Given the description of an element on the screen output the (x, y) to click on. 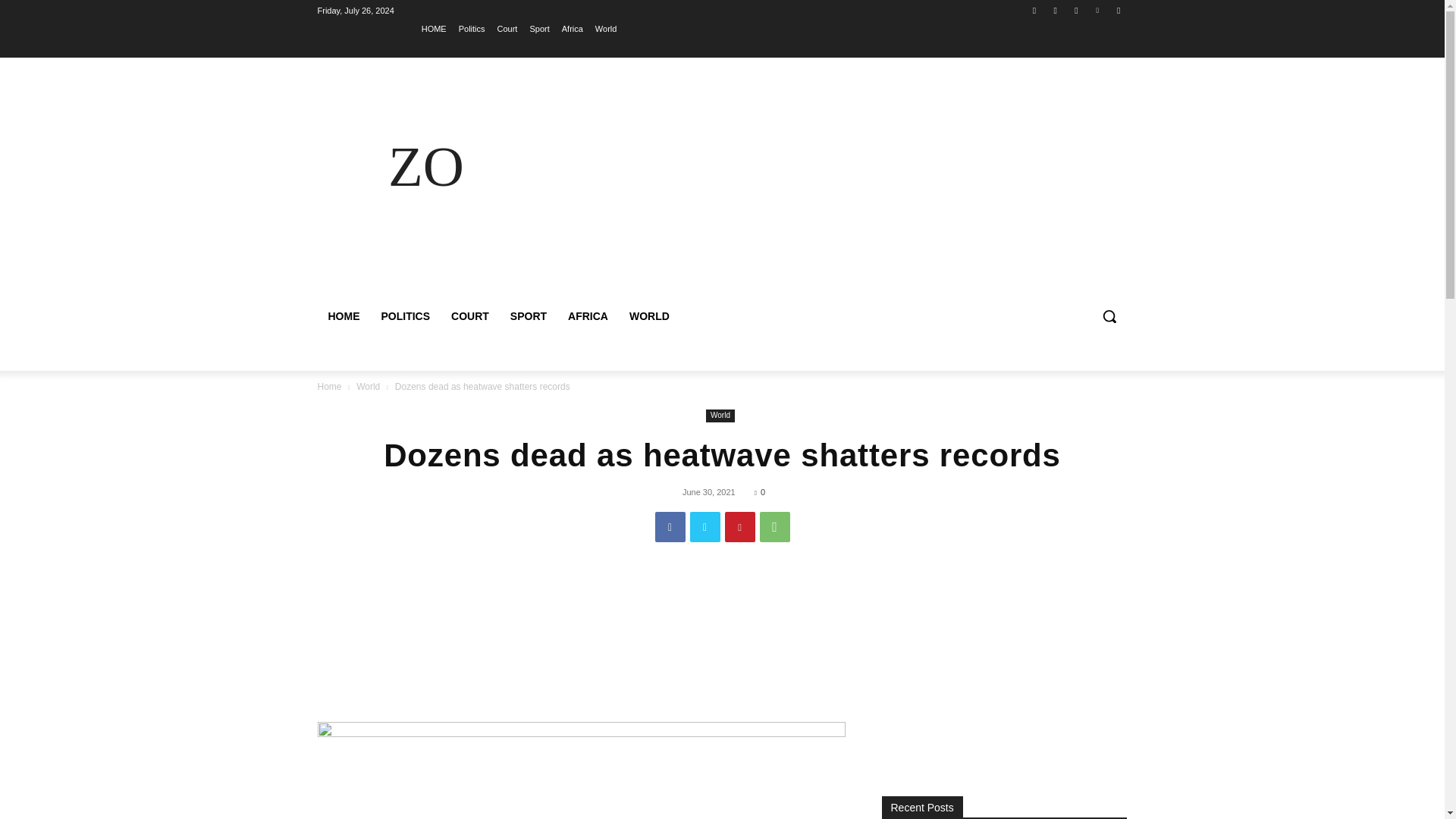
World (720, 415)
COURT (470, 316)
0 (759, 491)
HOME (434, 28)
HOME (343, 316)
Instagram (1055, 9)
Politics (471, 28)
Facebook (1034, 9)
AFRICA (587, 316)
Africa (572, 28)
Twitter (705, 526)
Facebook (670, 526)
Vimeo (1097, 9)
Home (328, 386)
